Given the description of an element on the screen output the (x, y) to click on. 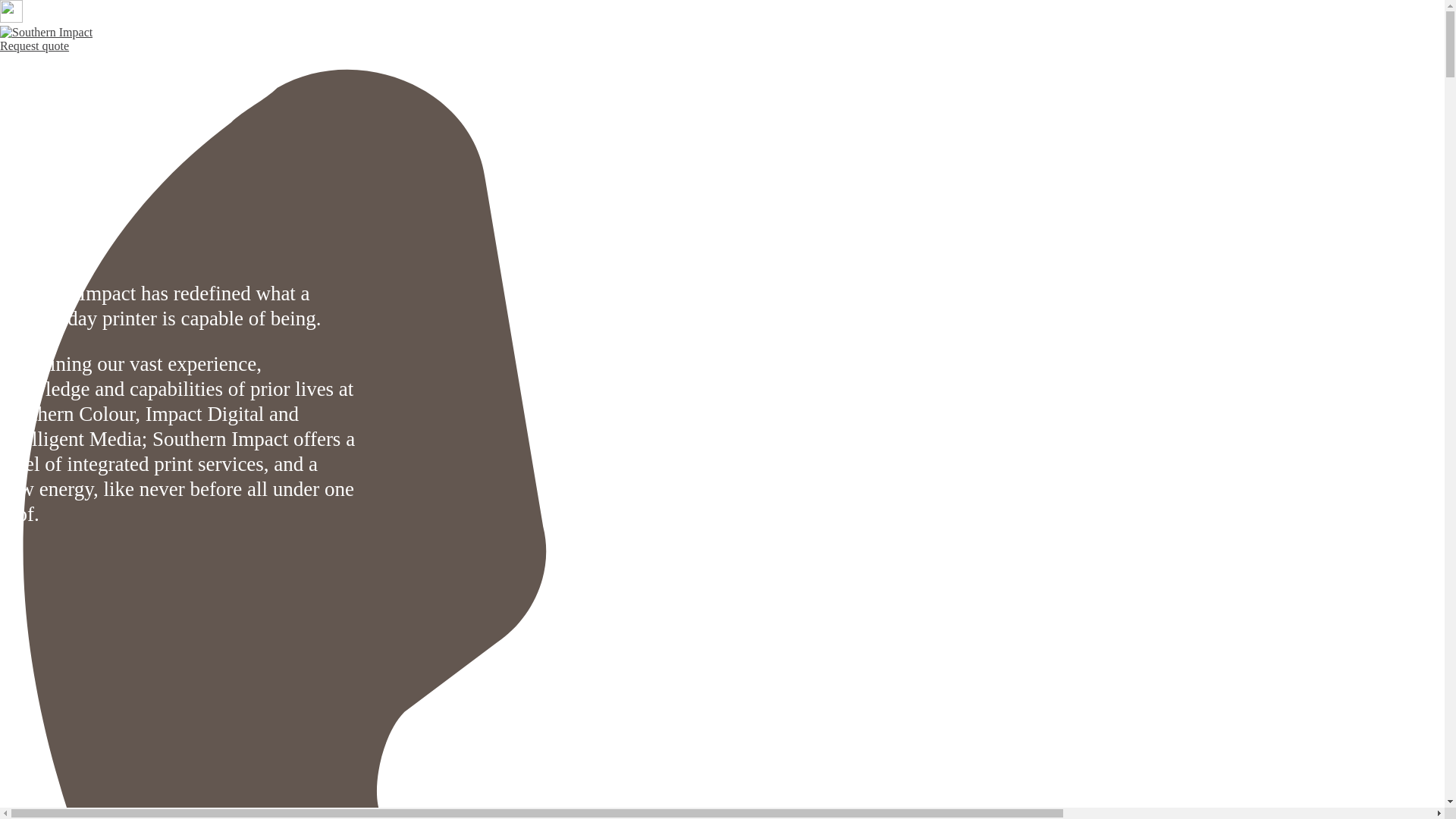
Southern Impact Element type: hover (46, 31)
Request quote Element type: text (34, 45)
